Given the description of an element on the screen output the (x, y) to click on. 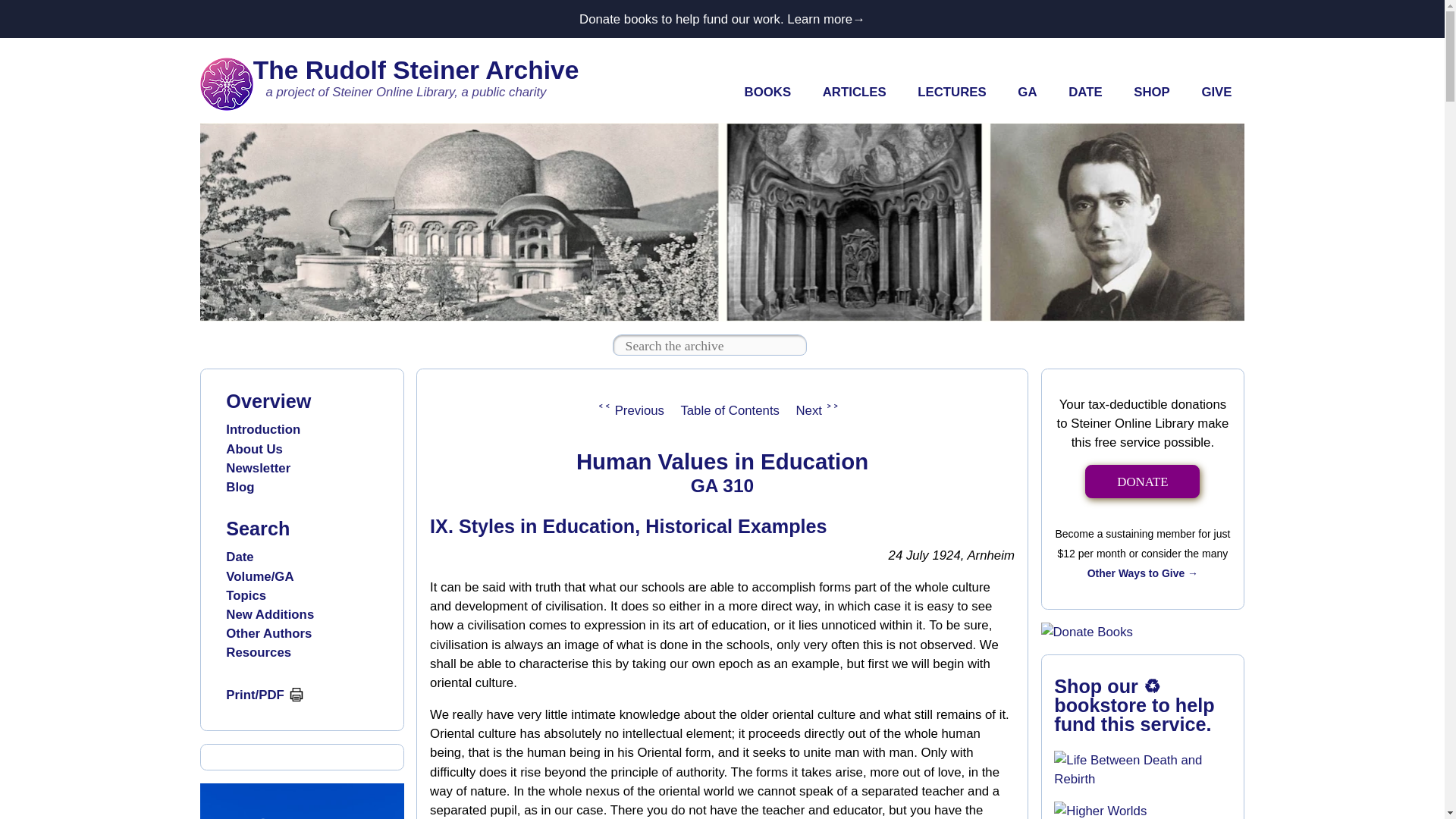
New Additions (269, 614)
GA (1027, 92)
GIVE (1216, 92)
Other Authors (268, 633)
The Rudolf Steiner Archive (416, 70)
Introduction (262, 429)
Resources (258, 652)
About Us (253, 449)
DONATE (1141, 481)
Topics (245, 595)
